Given the description of an element on the screen output the (x, y) to click on. 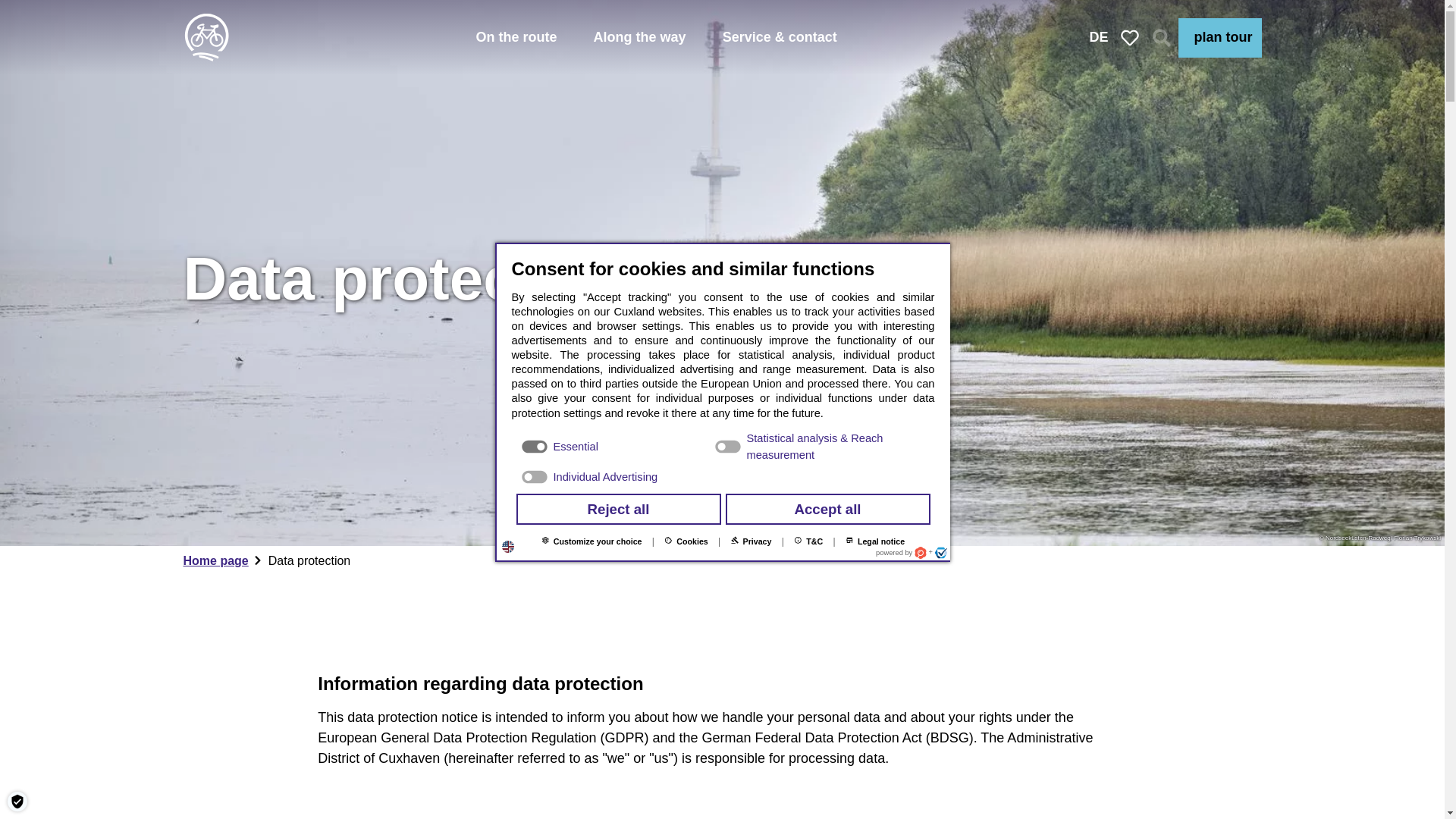
Language: en (507, 546)
Customize your choice (591, 540)
Legal notice (875, 540)
Reject all (617, 508)
On the route (516, 37)
Accept all (827, 508)
Along the way (639, 37)
Cookies (685, 540)
Privacy (750, 540)
Back to home page (206, 37)
Purpose (722, 458)
